Given the description of an element on the screen output the (x, y) to click on. 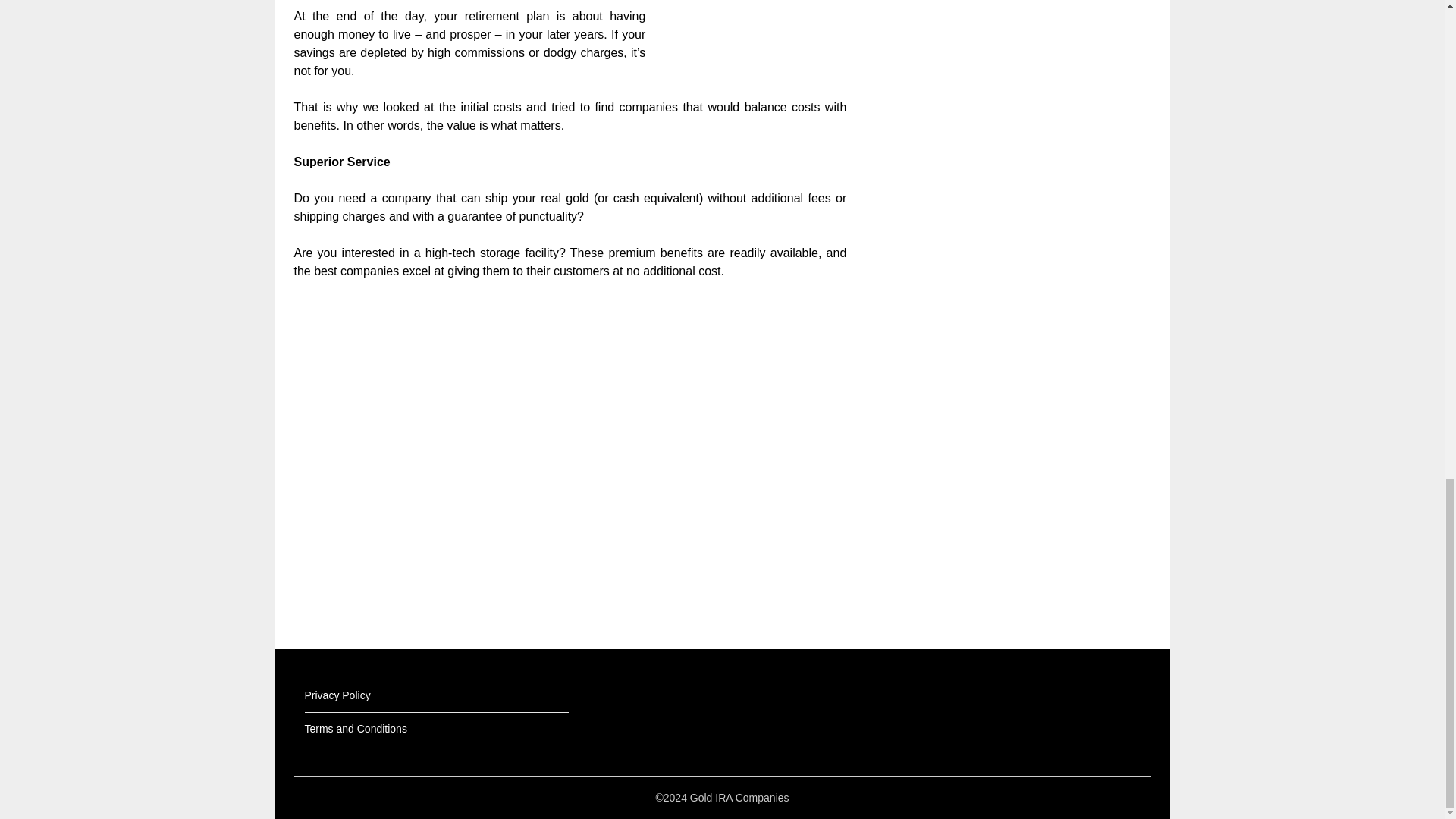
Terms and Conditions (355, 728)
Privacy Policy (337, 695)
